Given the description of an element on the screen output the (x, y) to click on. 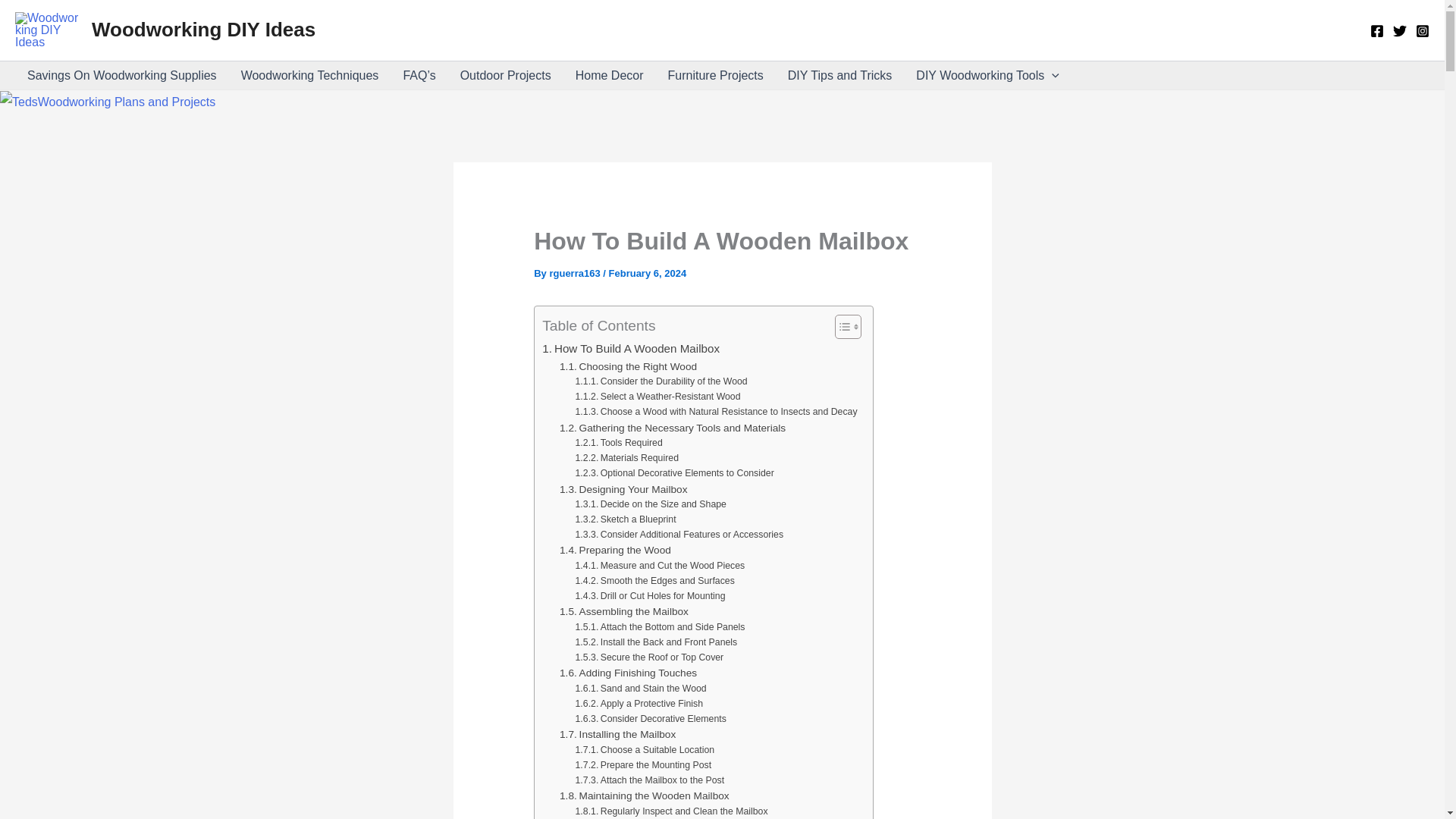
Consider the Durability of the Wood (661, 381)
Choose a Wood with Natural Resistance to Insects and Decay (716, 412)
Select a Weather-Resistant Wood (658, 396)
Choosing the Right Wood (628, 366)
Decide on the Size and Shape (650, 504)
Gathering the Necessary Tools and Materials (672, 428)
Tools Required (618, 443)
View all posts by rguerra163 (575, 273)
Designing Your Mailbox (623, 488)
Tools Required (618, 443)
